Given the description of an element on the screen output the (x, y) to click on. 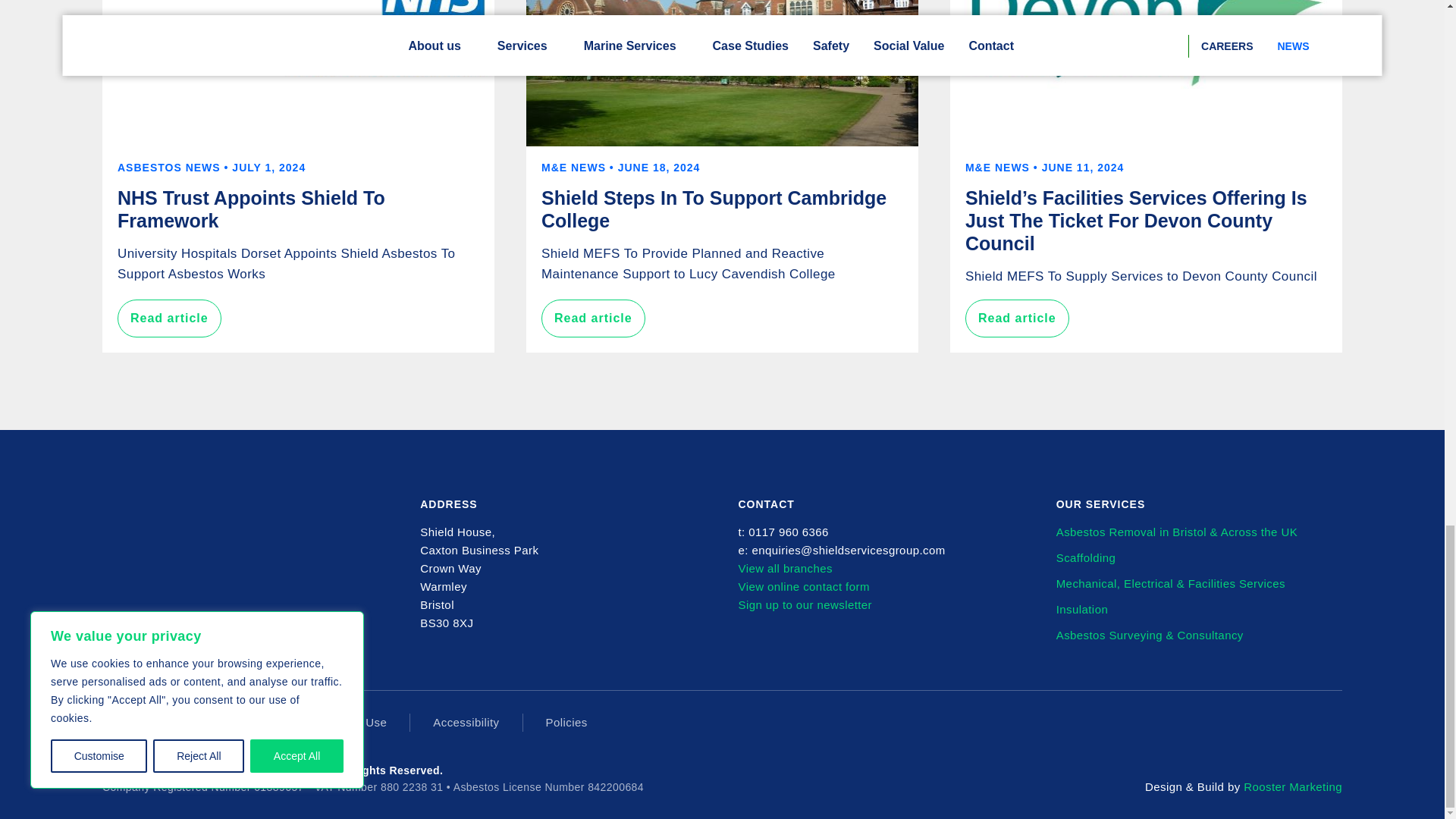
Shield Environmental Services homepage (170, 524)
